Given the description of an element on the screen output the (x, y) to click on. 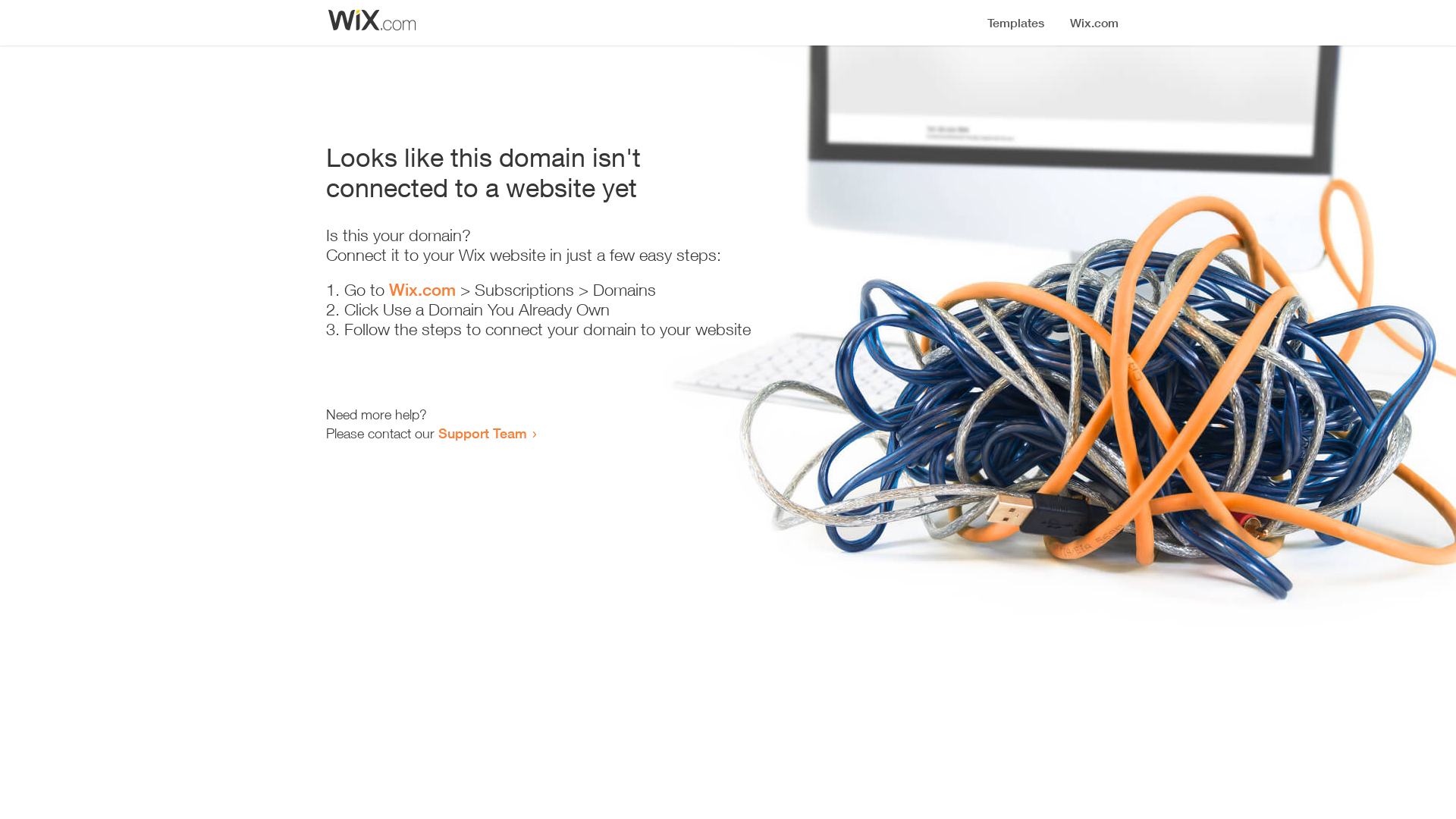
Wix.com Element type: text (422, 289)
Support Team Element type: text (482, 432)
